Given the description of an element on the screen output the (x, y) to click on. 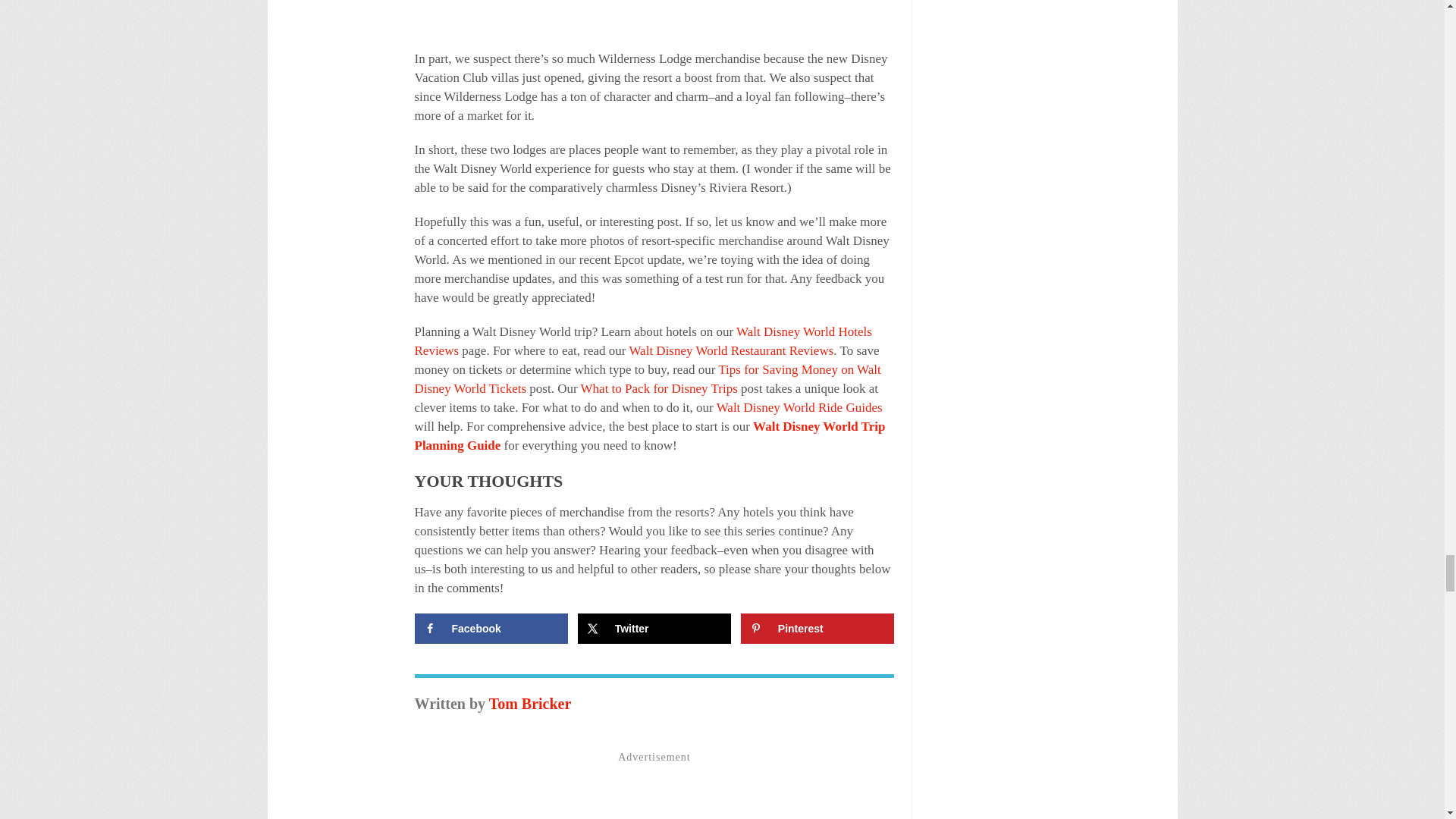
Share on Facebook (490, 628)
Save to Pinterest (818, 628)
Share on X (655, 628)
